Given the description of an element on the screen output the (x, y) to click on. 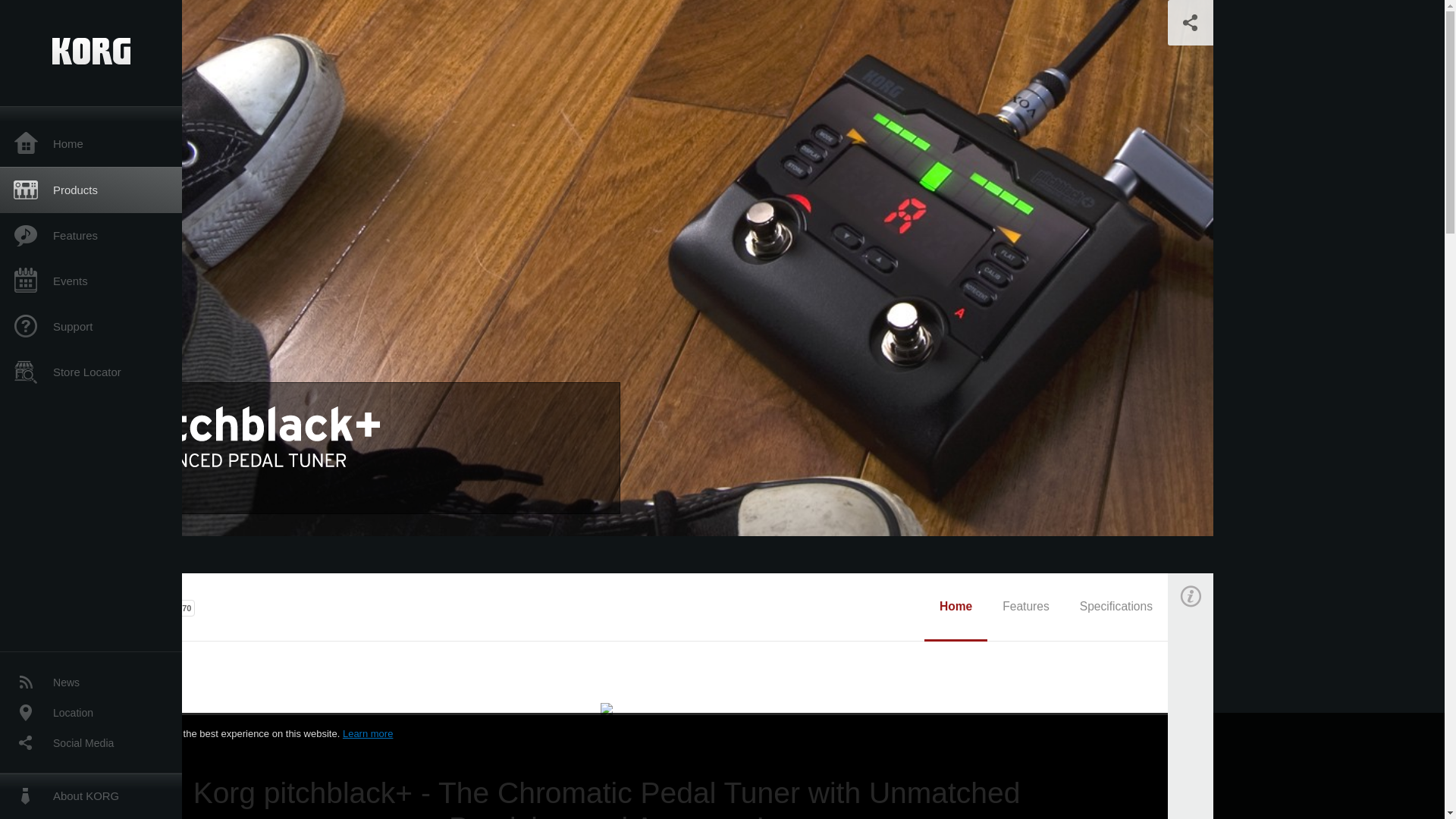
Home (91, 144)
Home (955, 607)
Products (91, 189)
About KORG (91, 796)
Events (91, 280)
Features (91, 235)
Location (91, 712)
News (91, 682)
Store Locator (91, 371)
Features (1025, 606)
